Given the description of an element on the screen output the (x, y) to click on. 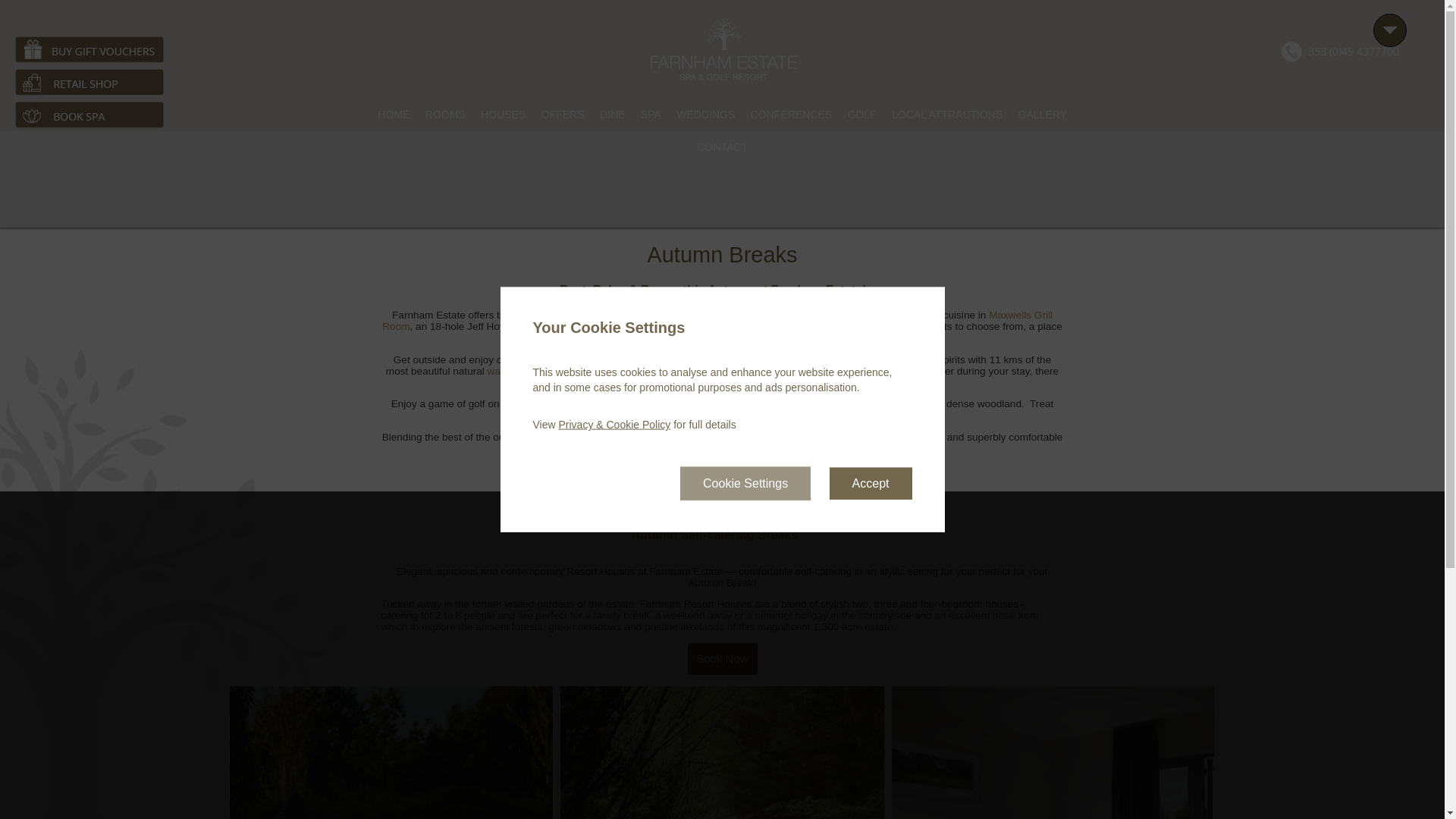
DINE (613, 114)
HOME (395, 114)
OFFERS (564, 114)
Accept (870, 482)
Cookie Settings (744, 482)
SPA (652, 114)
WEDDINGS (707, 114)
HOUSES (504, 114)
ROOMS (447, 114)
